Given the description of an element on the screen output the (x, y) to click on. 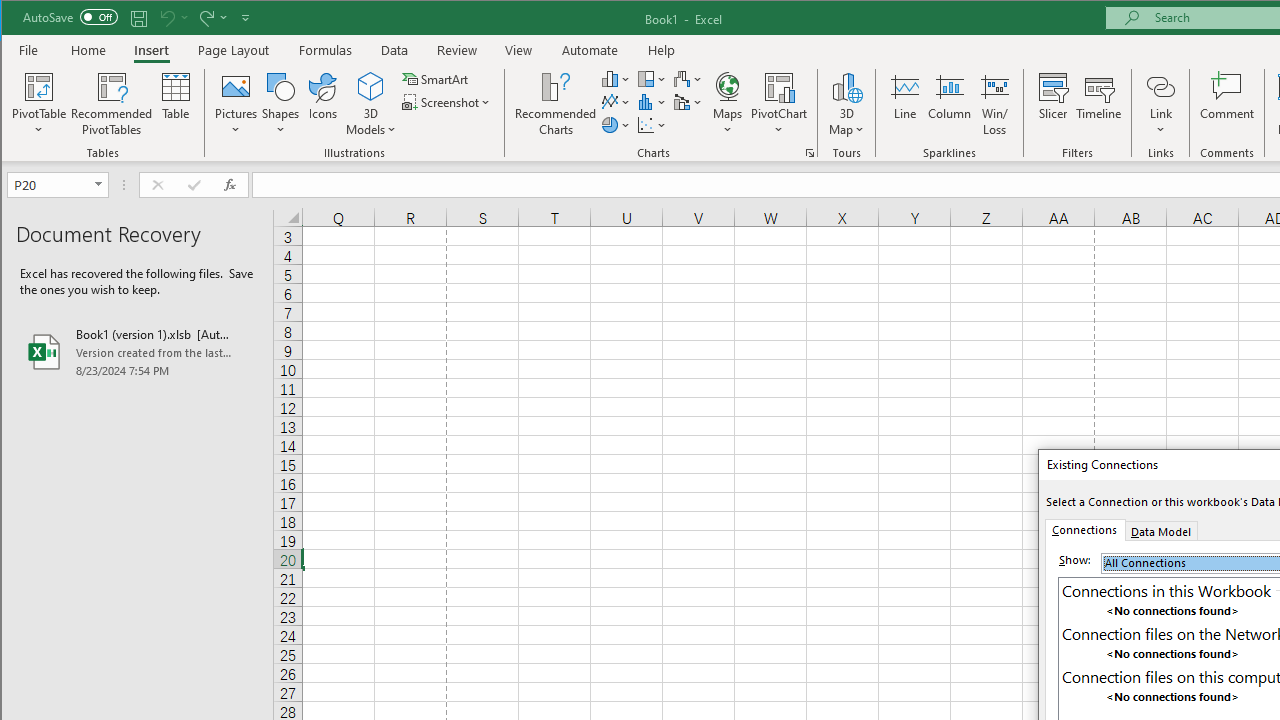
3D Models (371, 104)
Timeline (1098, 104)
